Given the description of an element on the screen output the (x, y) to click on. 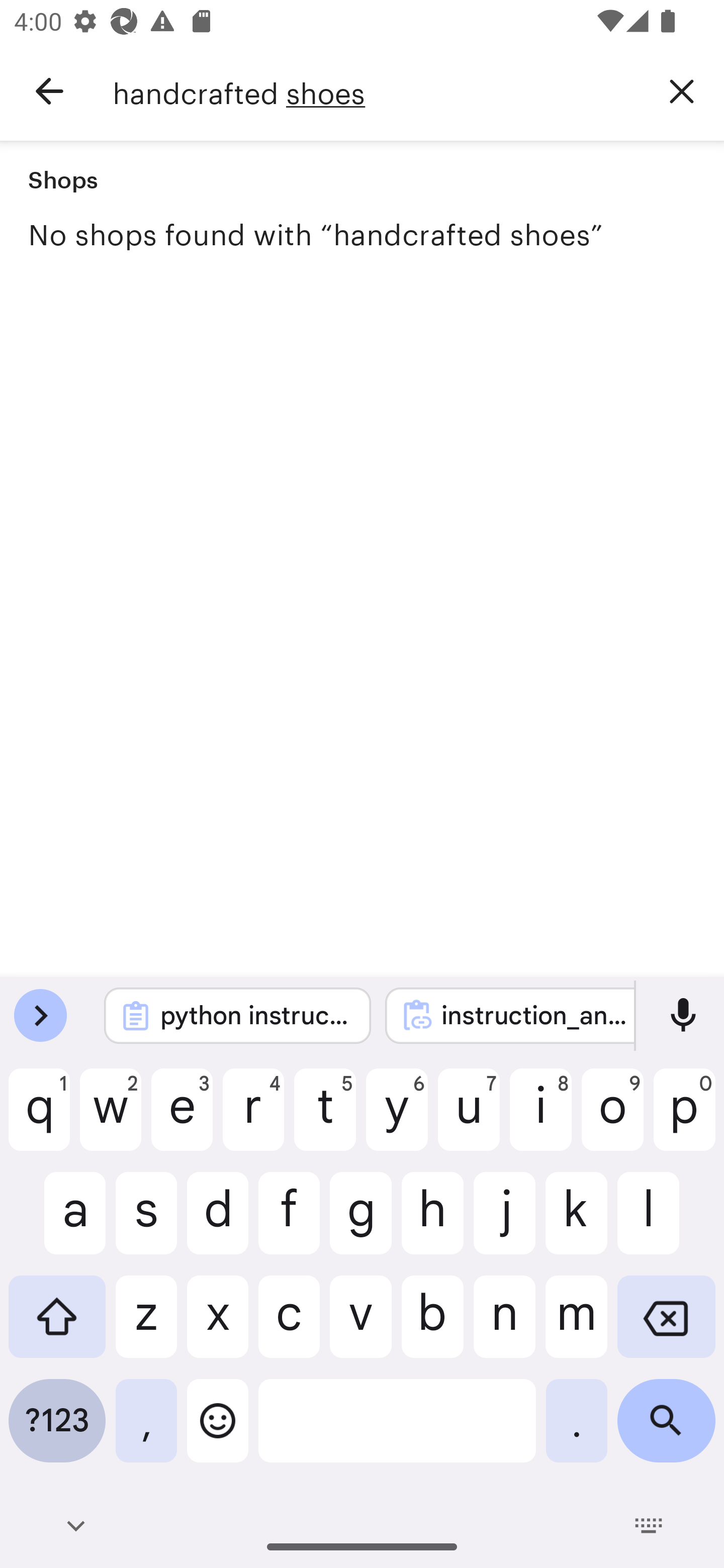
Navigate up (49, 91)
Clear query (681, 90)
handcrafted shoes (375, 91)
